Given the description of an element on the screen output the (x, y) to click on. 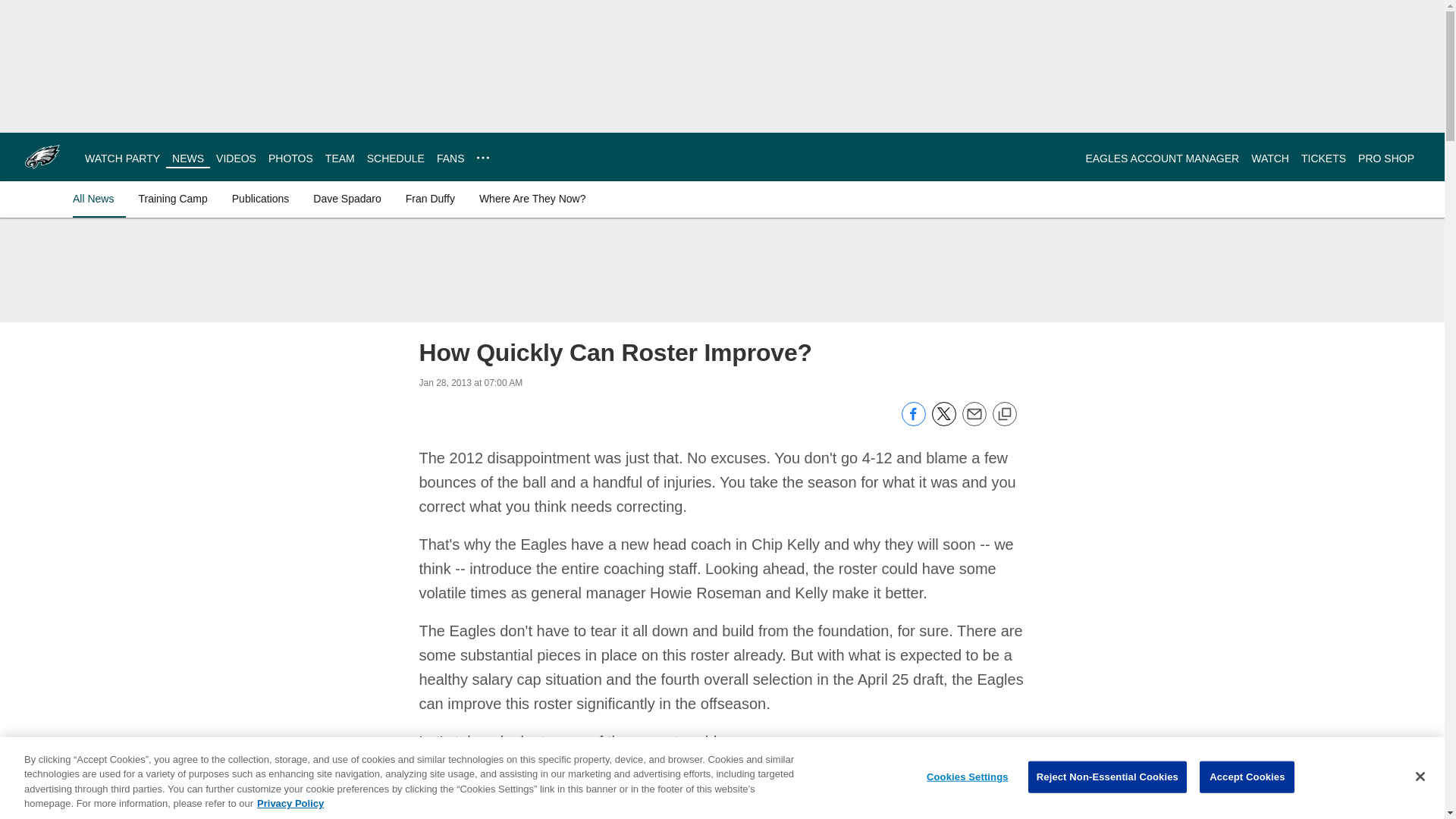
TEAM (339, 158)
PRO SHOP (1385, 158)
FANS (450, 158)
EAGLES ACCOUNT MANAGER (1161, 158)
WATCH PARTY (122, 158)
PHOTOS (290, 158)
WATCH PARTY (122, 158)
NEWS (187, 158)
TEAM (339, 158)
Where Are They Now? (532, 198)
